Given the description of an element on the screen output the (x, y) to click on. 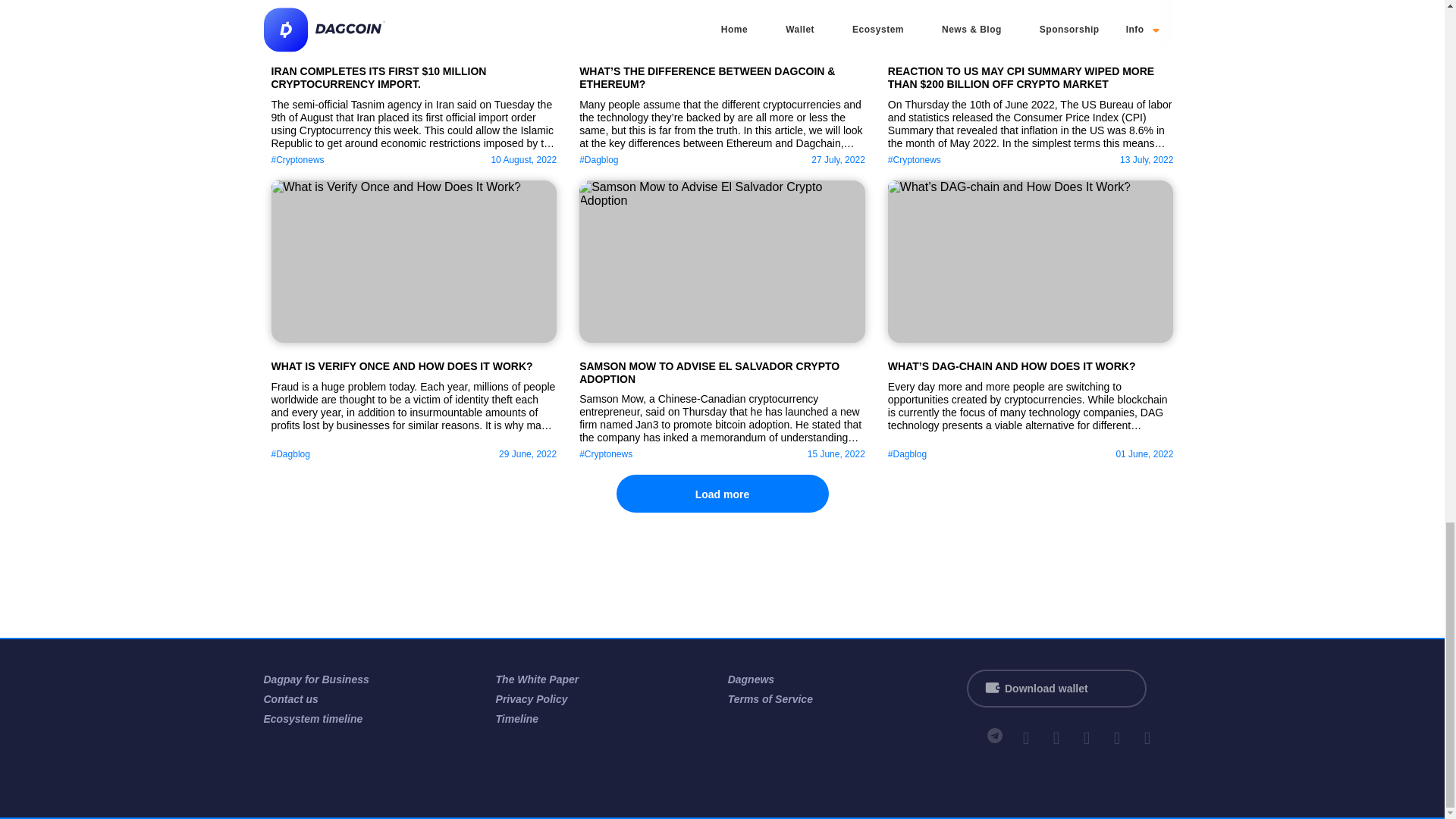
Load more (721, 493)
